Given the description of an element on the screen output the (x, y) to click on. 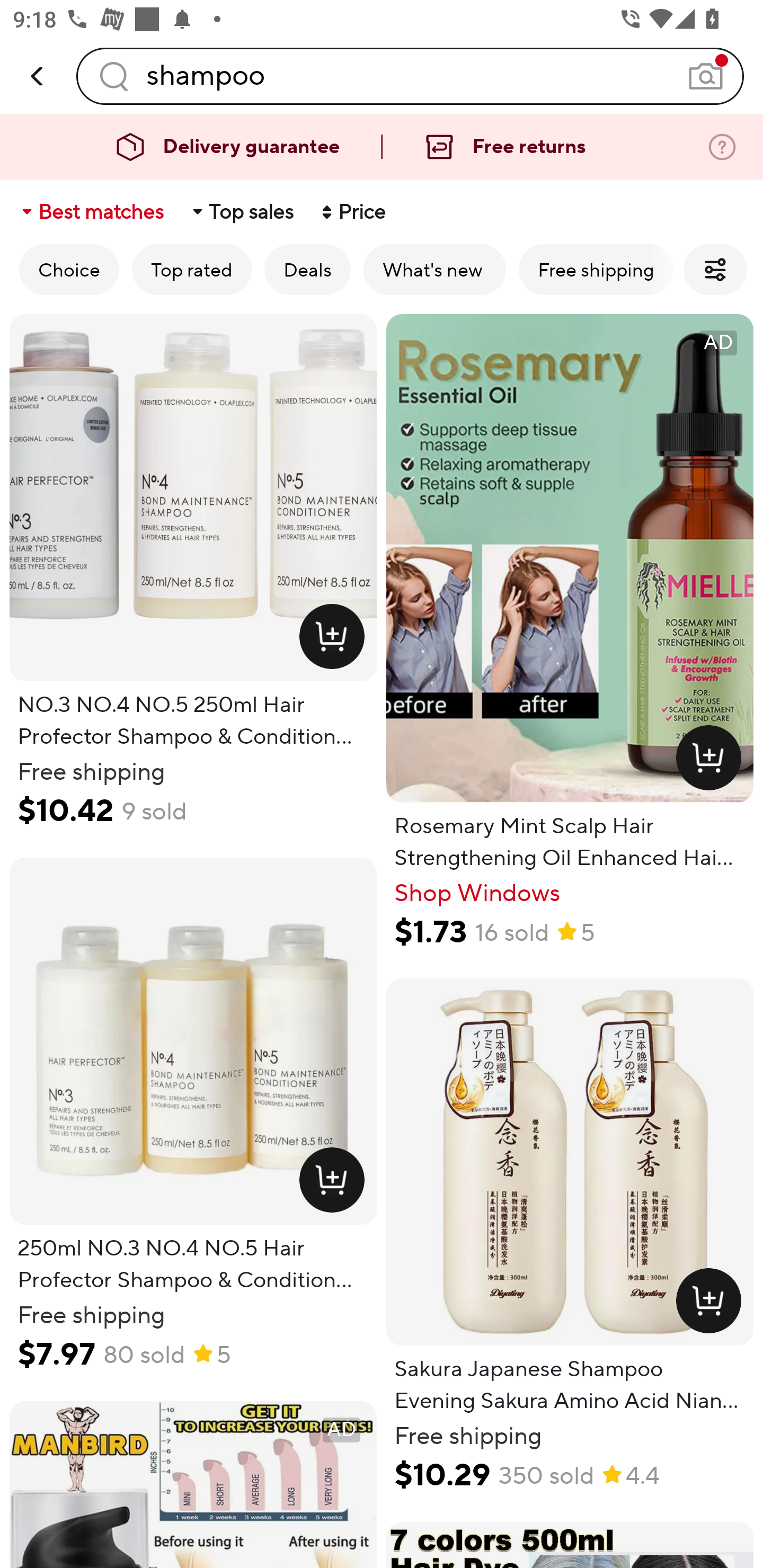
back (38, 75)
shampoo Search query (409, 76)
shampoo Search query (409, 76)
Best matches (91, 212)
Top sales (241, 212)
Price (352, 212)
Choice (69, 269)
Top rated (191, 269)
Deals (307, 269)
What's new  (434, 269)
Free shipping (595, 269)
